Given the description of an element on the screen output the (x, y) to click on. 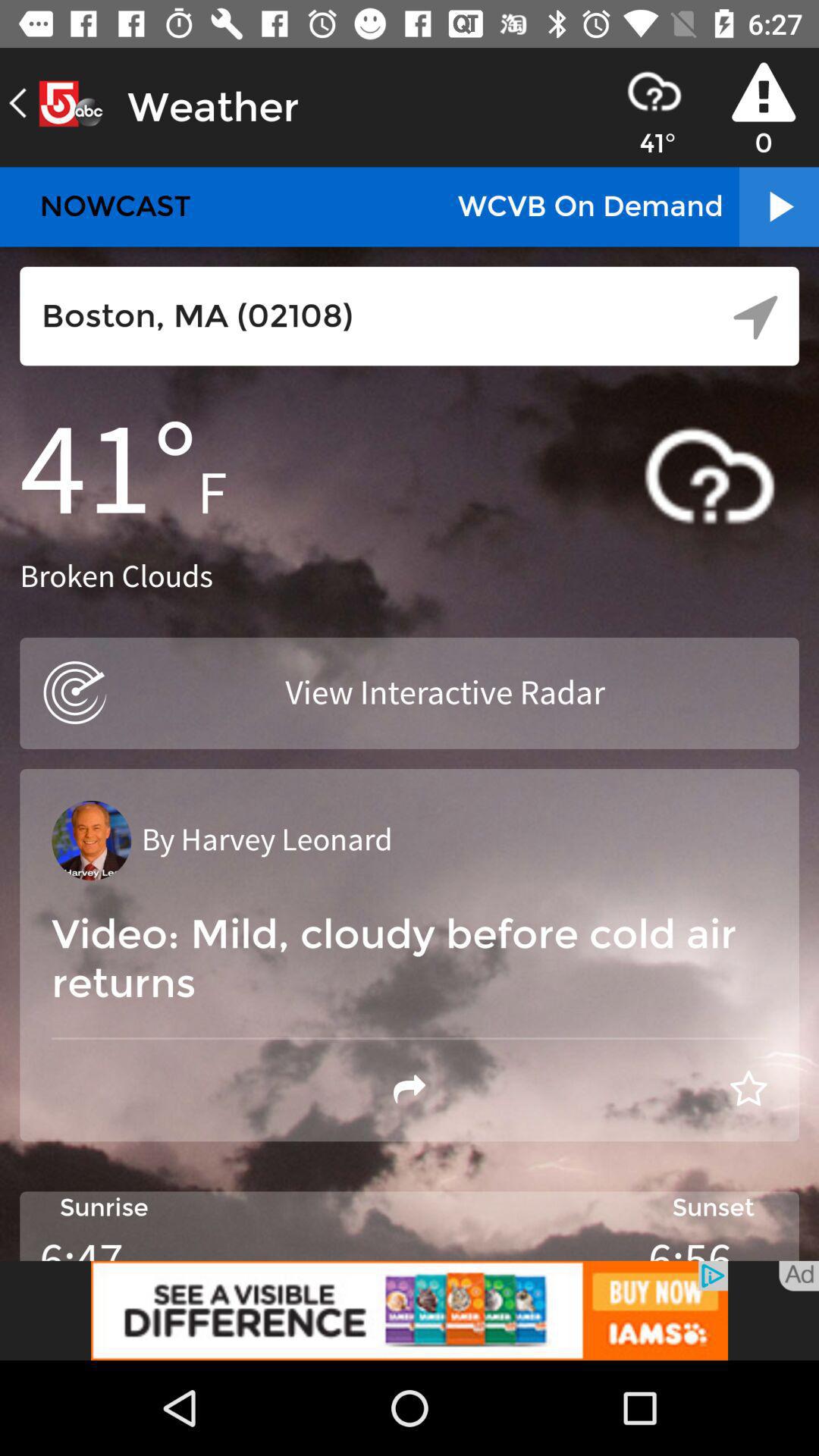
advertisement banner (409, 1310)
